Given the description of an element on the screen output the (x, y) to click on. 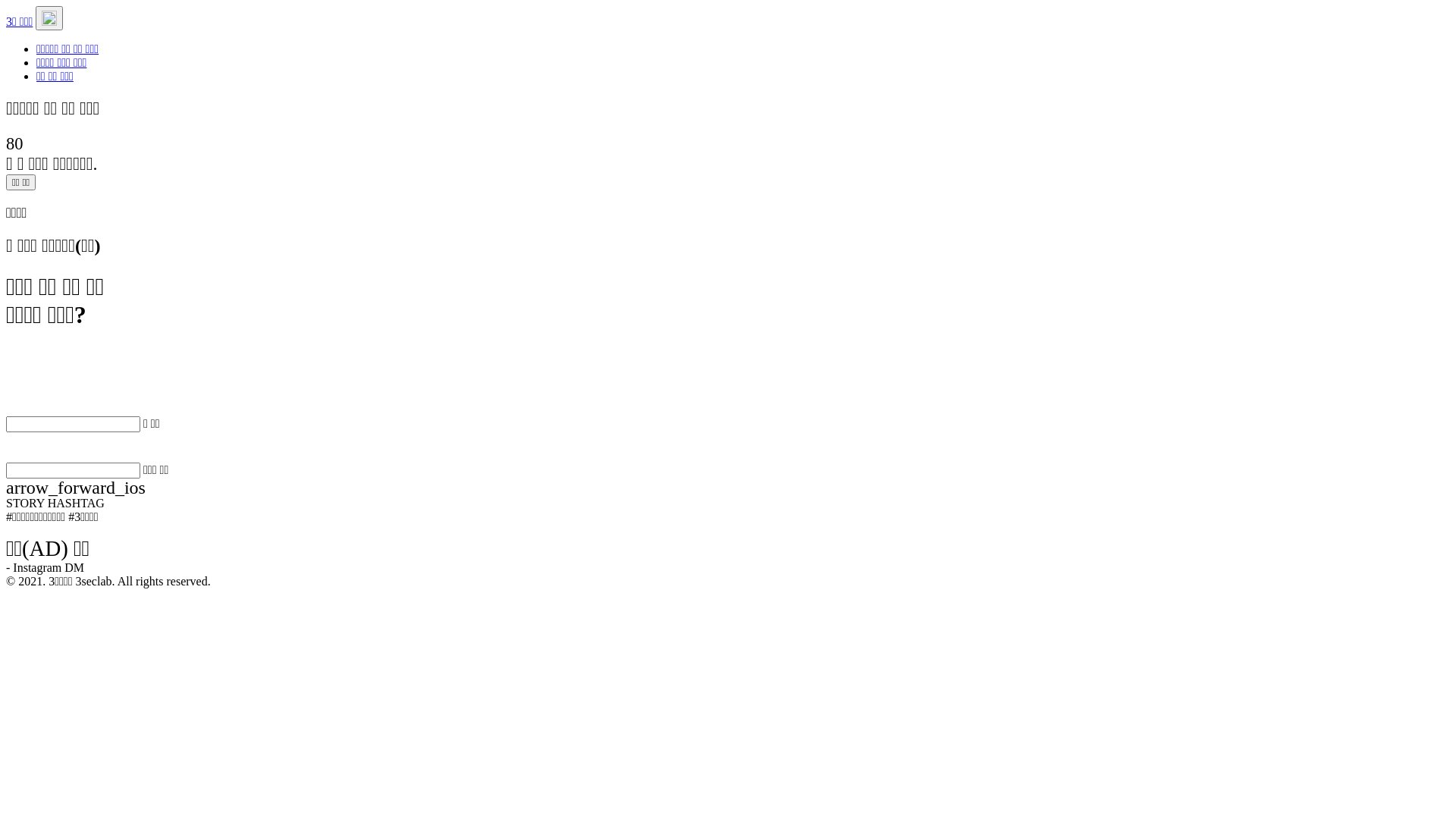
- Instagram DM Element type: text (45, 567)
arrow_forward_ios Element type: text (727, 487)
